Given the description of an element on the screen output the (x, y) to click on. 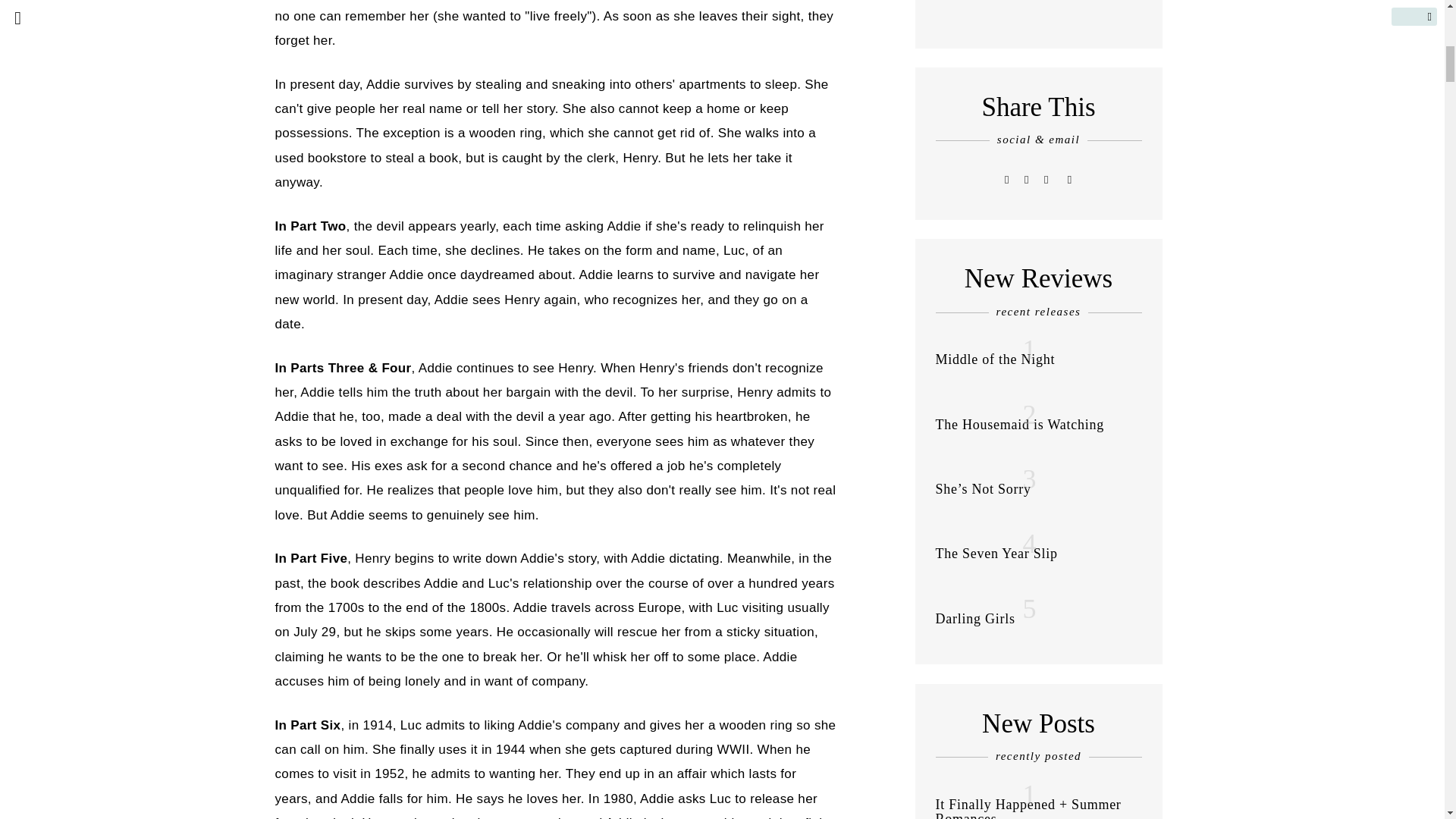
The Housemaid is Watching (1019, 424)
The Seven Year Slip (997, 553)
Middle of the Night (995, 359)
Darling Girls (975, 618)
Tweet This (1006, 178)
